Given the description of an element on the screen output the (x, y) to click on. 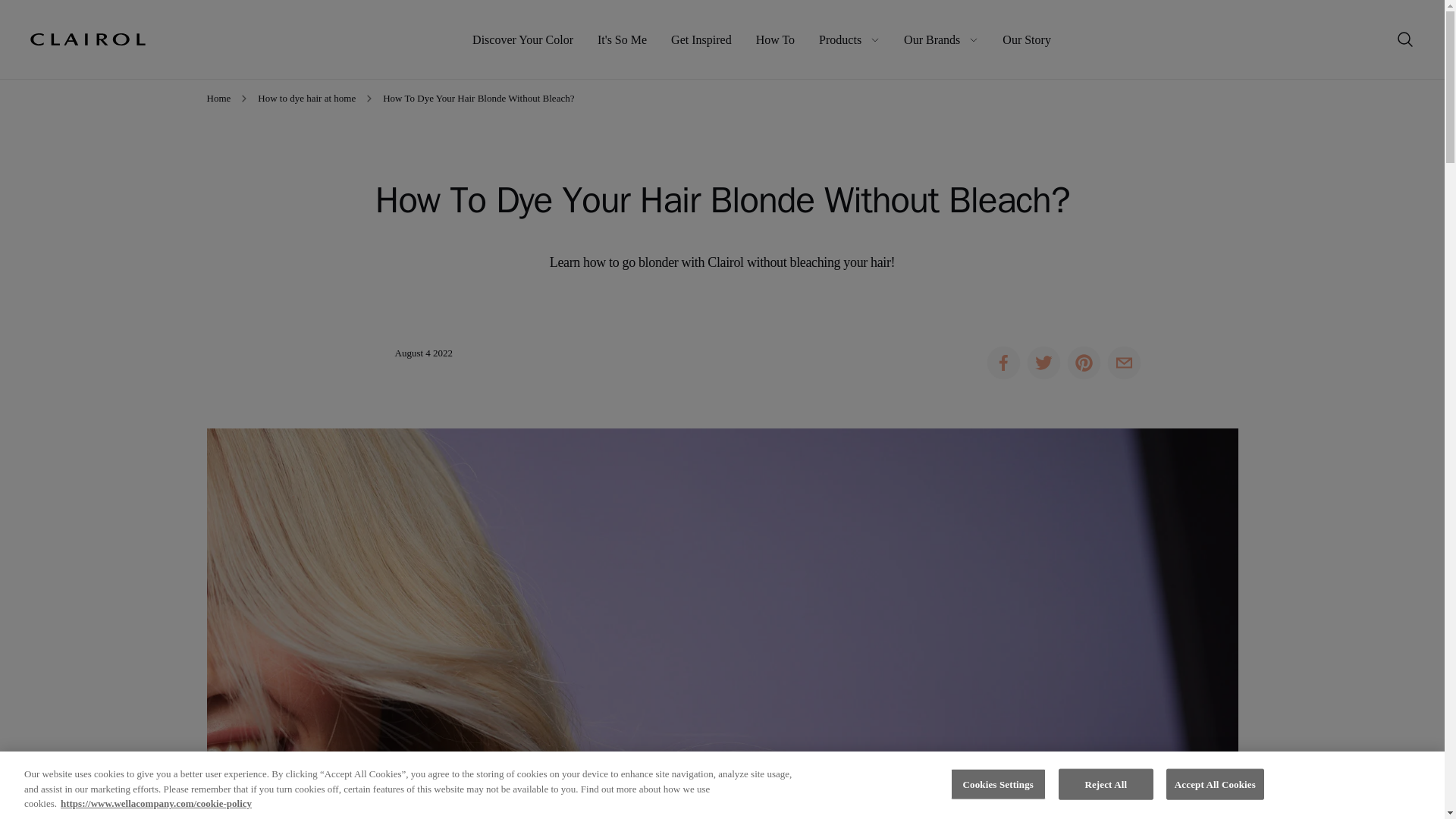
Products (848, 39)
Get Inspired (701, 40)
Our Brands (941, 39)
How To Dye Your Hair Blonde Without Bleach? (477, 98)
It's So Me (621, 40)
Our Story (1027, 40)
Home (218, 98)
Home (87, 39)
Discover Your Color (522, 40)
Search (1405, 39)
How To (774, 40)
How to dye hair at home (306, 98)
